Given the description of an element on the screen output the (x, y) to click on. 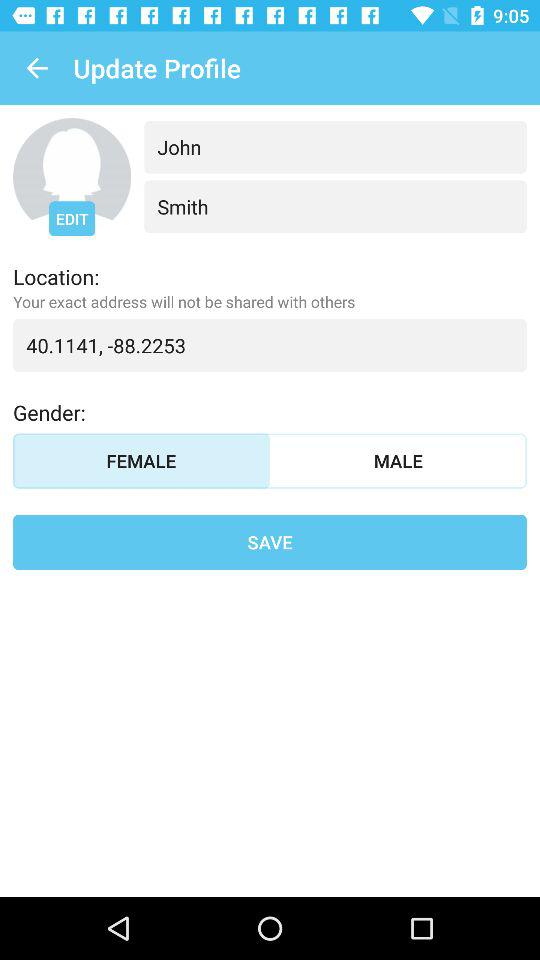
edit profile picture (72, 177)
